Given the description of an element on the screen output the (x, y) to click on. 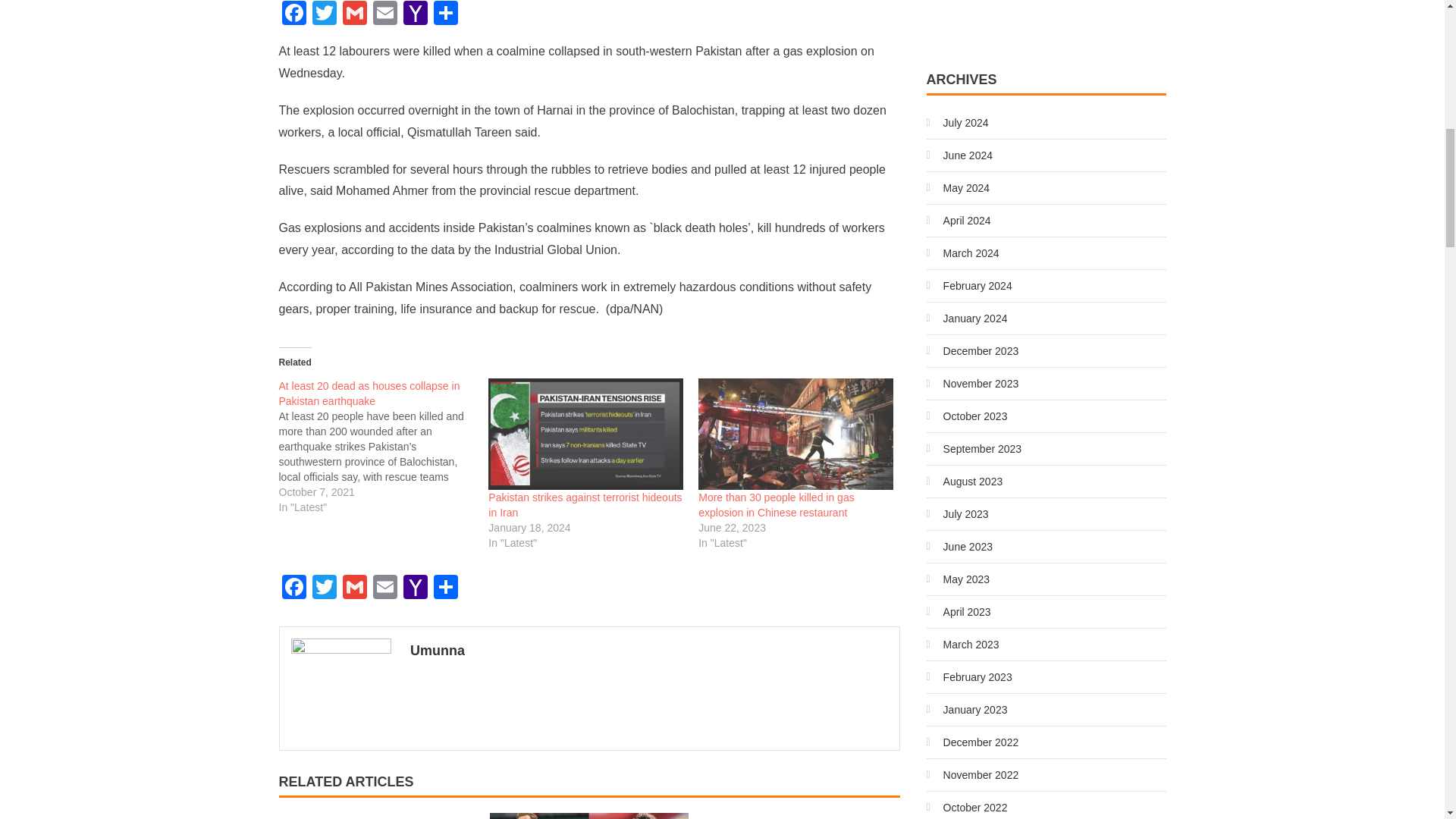
Twitter (323, 588)
At least 20 dead as houses collapse in Pakistan earthquake (384, 446)
Email (384, 14)
At least 20 dead as houses collapse in Pakistan earthquake (369, 393)
Gmail (354, 14)
Twitter (323, 14)
Pakistan strikes against terrorist hideouts in Iran (584, 433)
Gmail (354, 588)
Yahoo Mail (415, 14)
Email (384, 14)
Pakistan strikes against terrorist hideouts in Iran (584, 504)
Facebook (293, 14)
Facebook (293, 14)
